Given the description of an element on the screen output the (x, y) to click on. 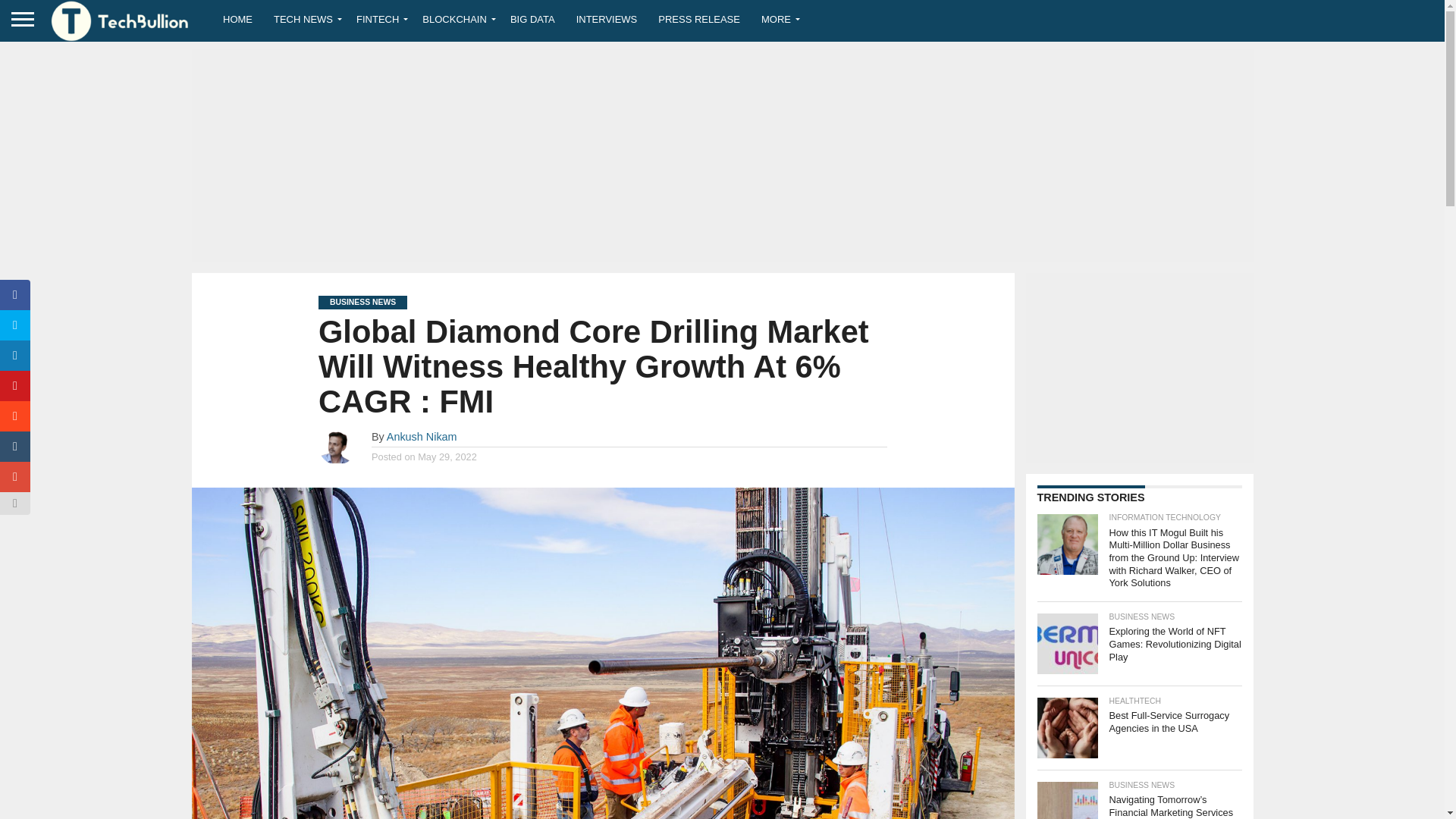
Posts by Ankush Nikam (422, 436)
